Given the description of an element on the screen output the (x, y) to click on. 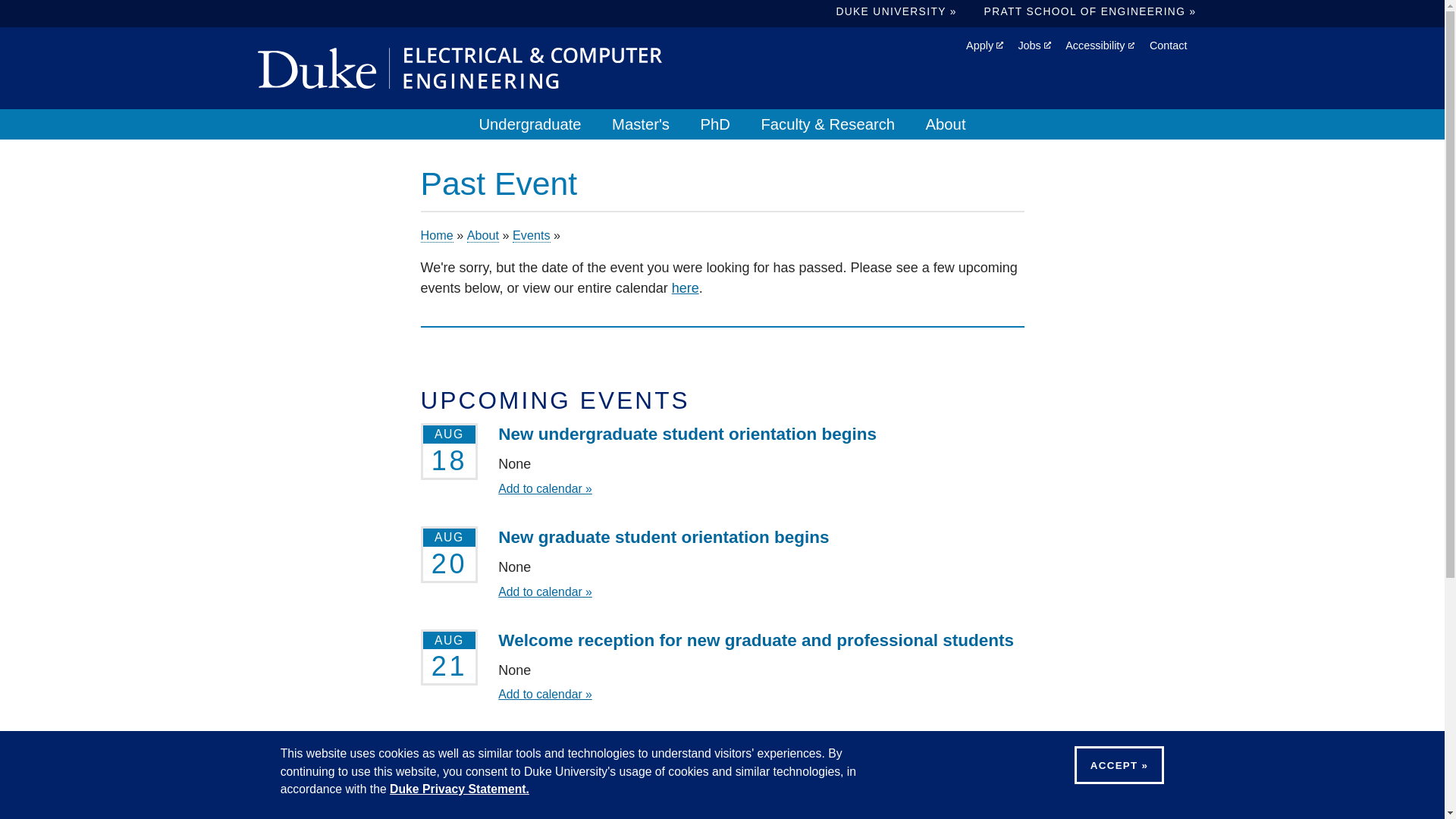
Apply (984, 45)
Accessibility (1099, 45)
Contact (1169, 45)
Home (459, 67)
Jobs (1033, 45)
